Given the description of an element on the screen output the (x, y) to click on. 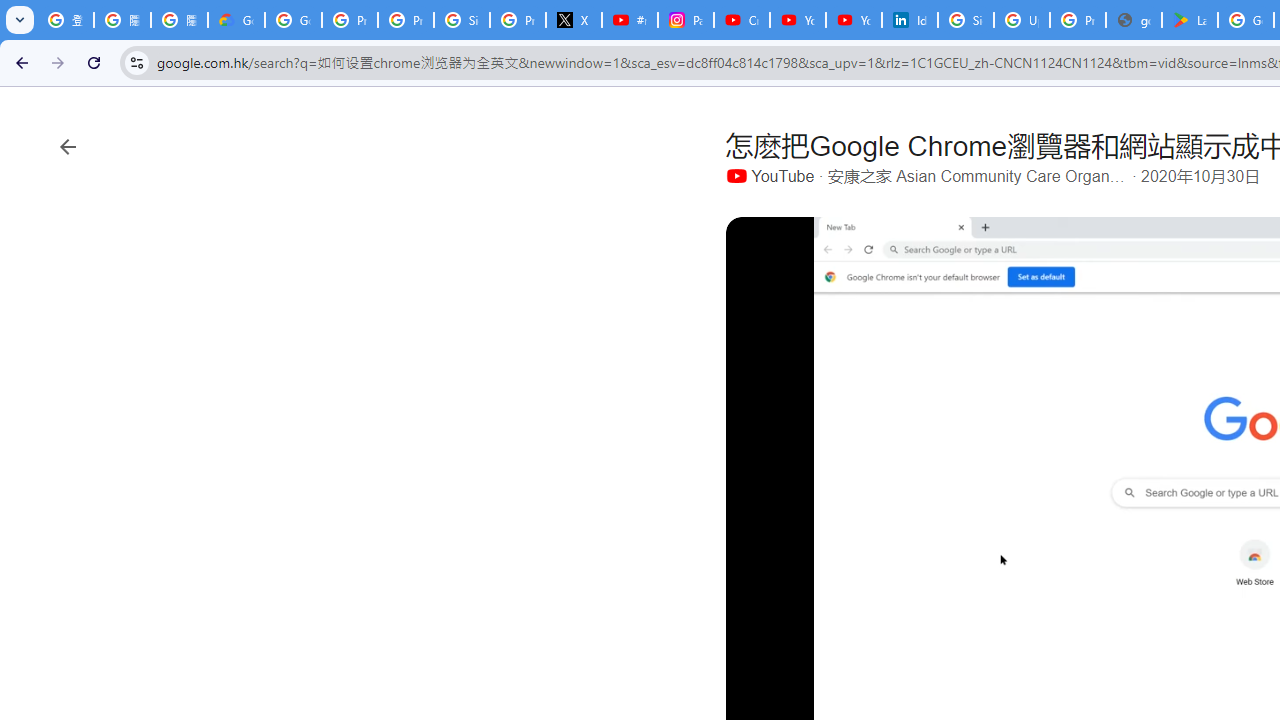
#nbabasketballhighlights - YouTube (629, 20)
X (573, 20)
Sign in - Google Accounts (966, 20)
Back (19, 62)
Reload (93, 62)
Search tabs (20, 20)
Google Cloud Privacy Notice (235, 20)
System (10, 11)
